Given the description of an element on the screen output the (x, y) to click on. 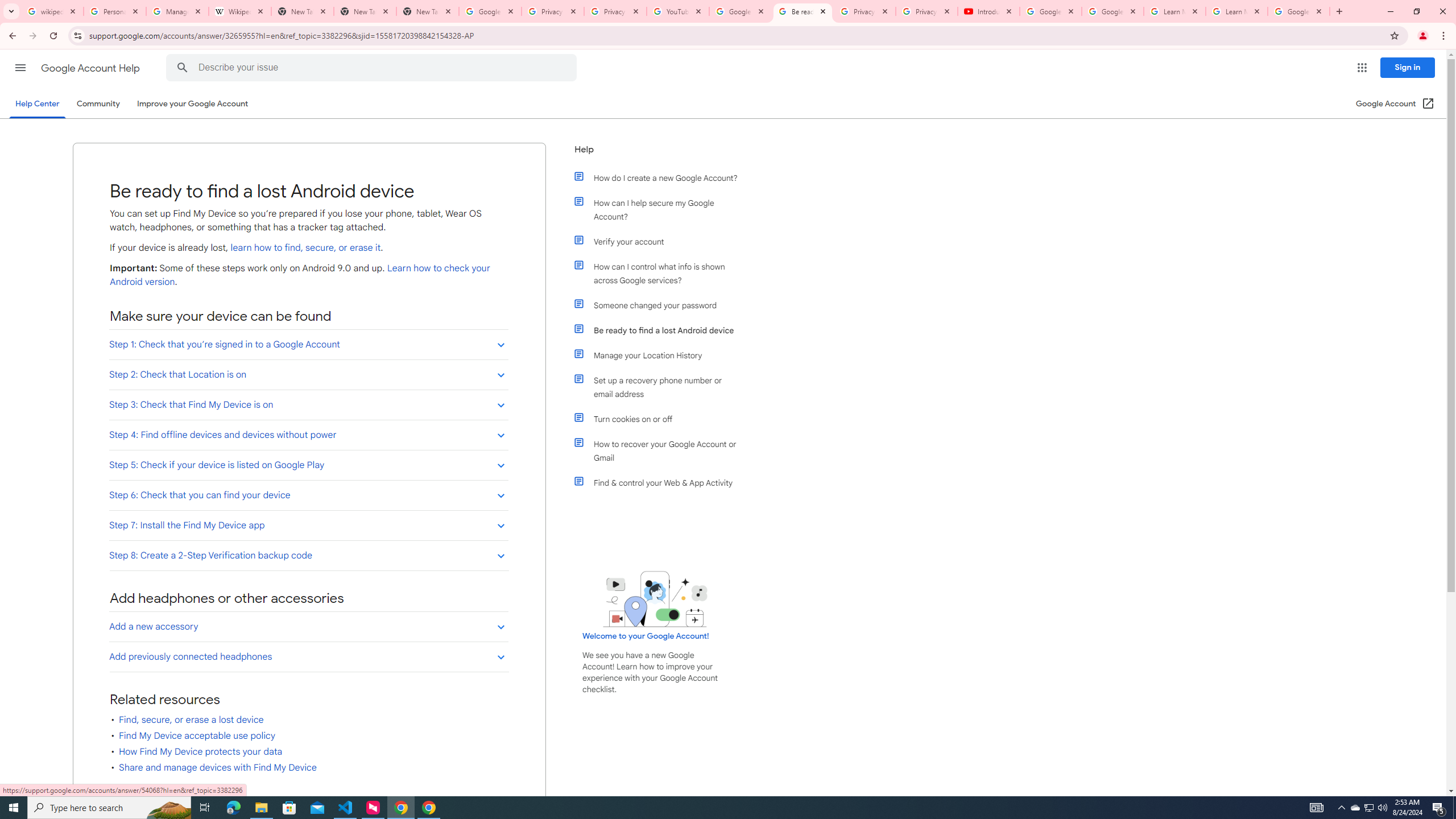
Step 6: Check that you can find your device (308, 494)
Verify your account (661, 241)
YouTube (678, 11)
Set up a recovery phone number or email address (661, 387)
learn how to find, secure, or erase it (305, 247)
How to recover your Google Account or Gmail (661, 450)
Add a new accessory (308, 626)
How can I control what info is shown across Google services? (661, 273)
Main menu (20, 67)
Step 5: Check if your device is listed on Google Play (308, 464)
Learning Center home page image (655, 598)
